Given the description of an element on the screen output the (x, y) to click on. 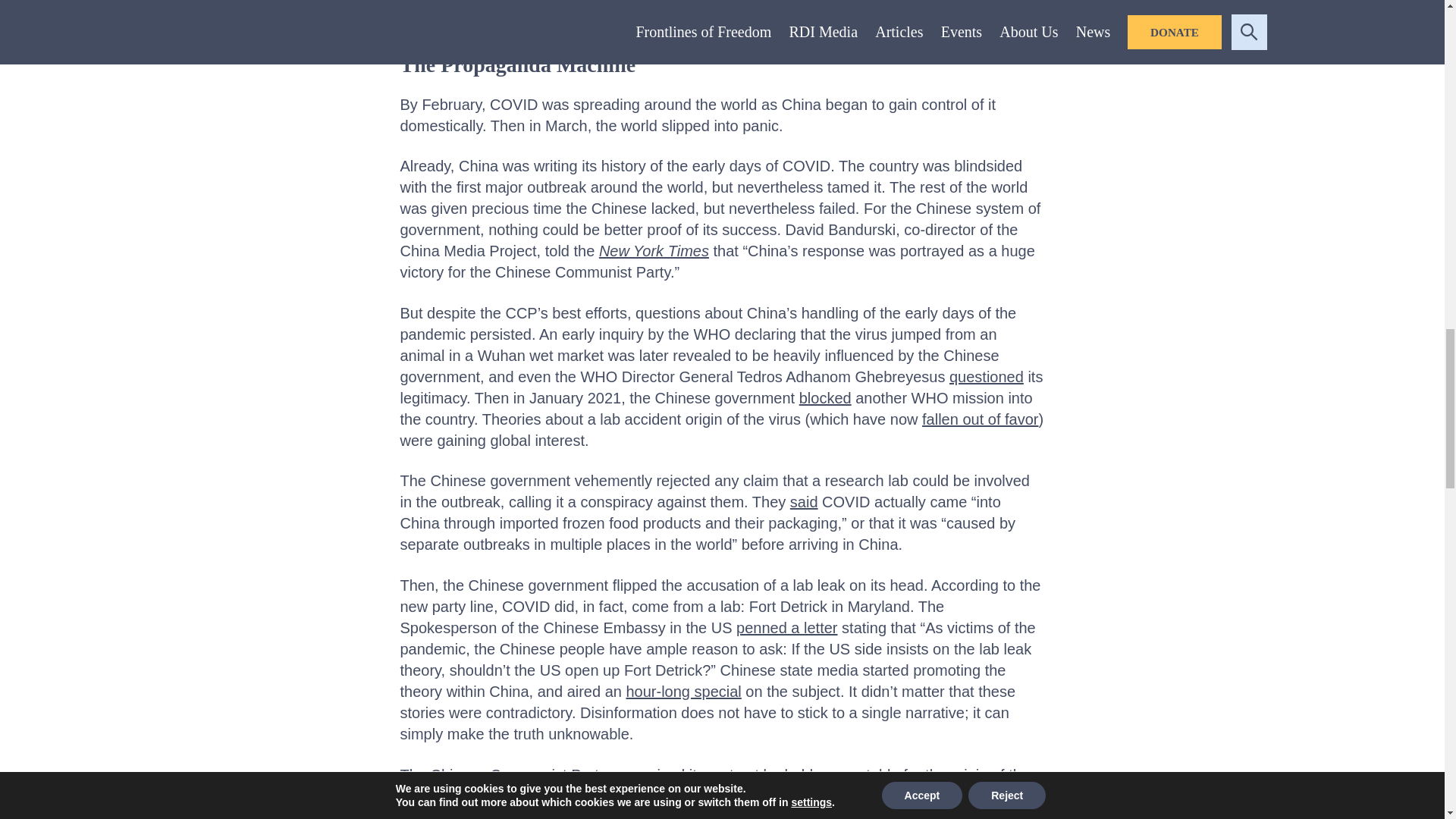
questioned (986, 376)
New York Times (653, 250)
said (804, 501)
penned a letter (786, 627)
hour-long special (683, 691)
fallen out of favor (979, 419)
blocked (825, 397)
